Given the description of an element on the screen output the (x, y) to click on. 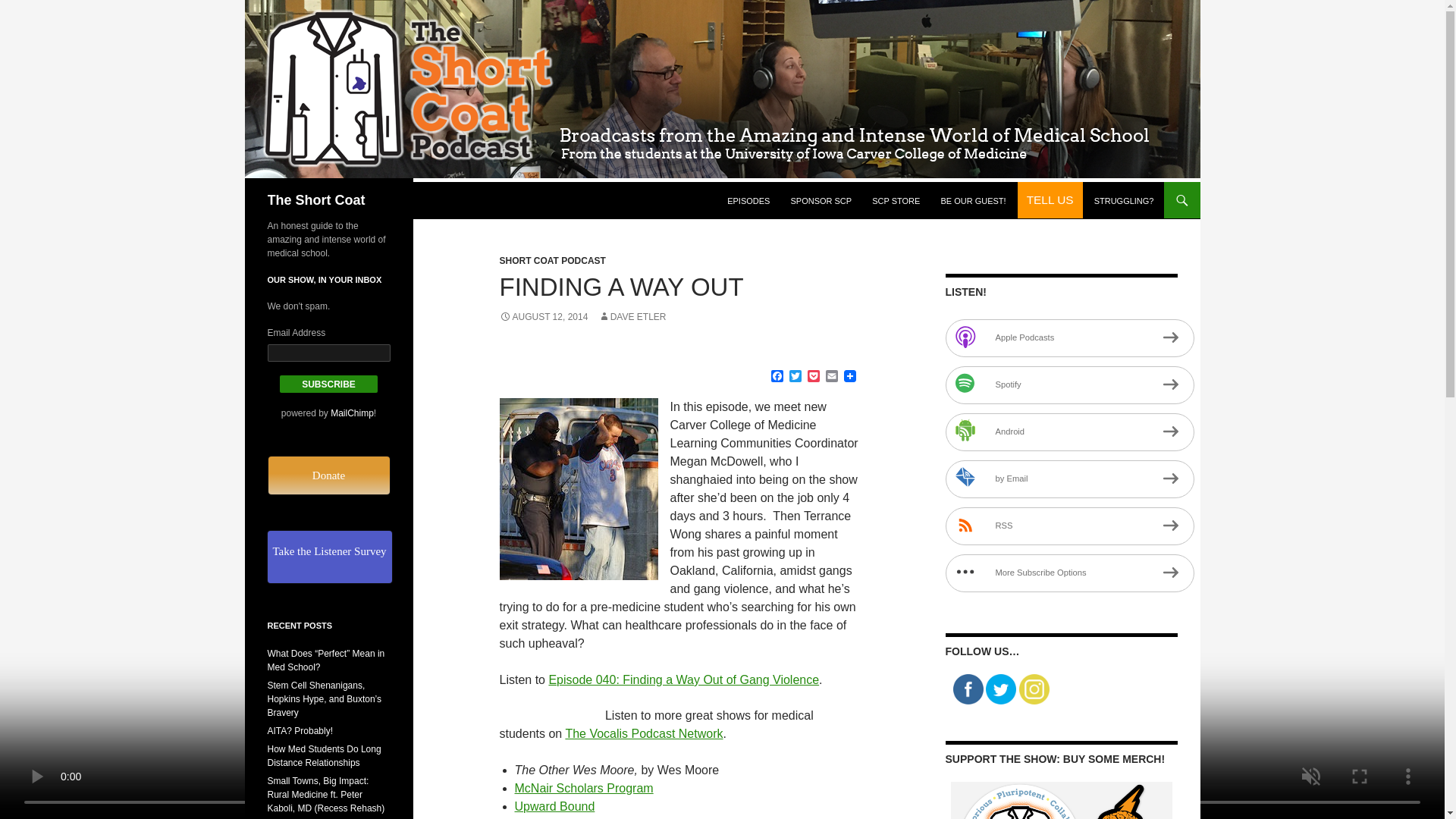
More Subscribe Options (1068, 573)
Subscribe on Android (1068, 432)
Pocket (812, 377)
calltoaction (1050, 199)
Subscribe via RSS (1068, 525)
SCP STORE (895, 200)
Twitter (794, 377)
You're almost there! Give us a little clickety-click? (328, 475)
Facebook (776, 377)
